Given the description of an element on the screen output the (x, y) to click on. 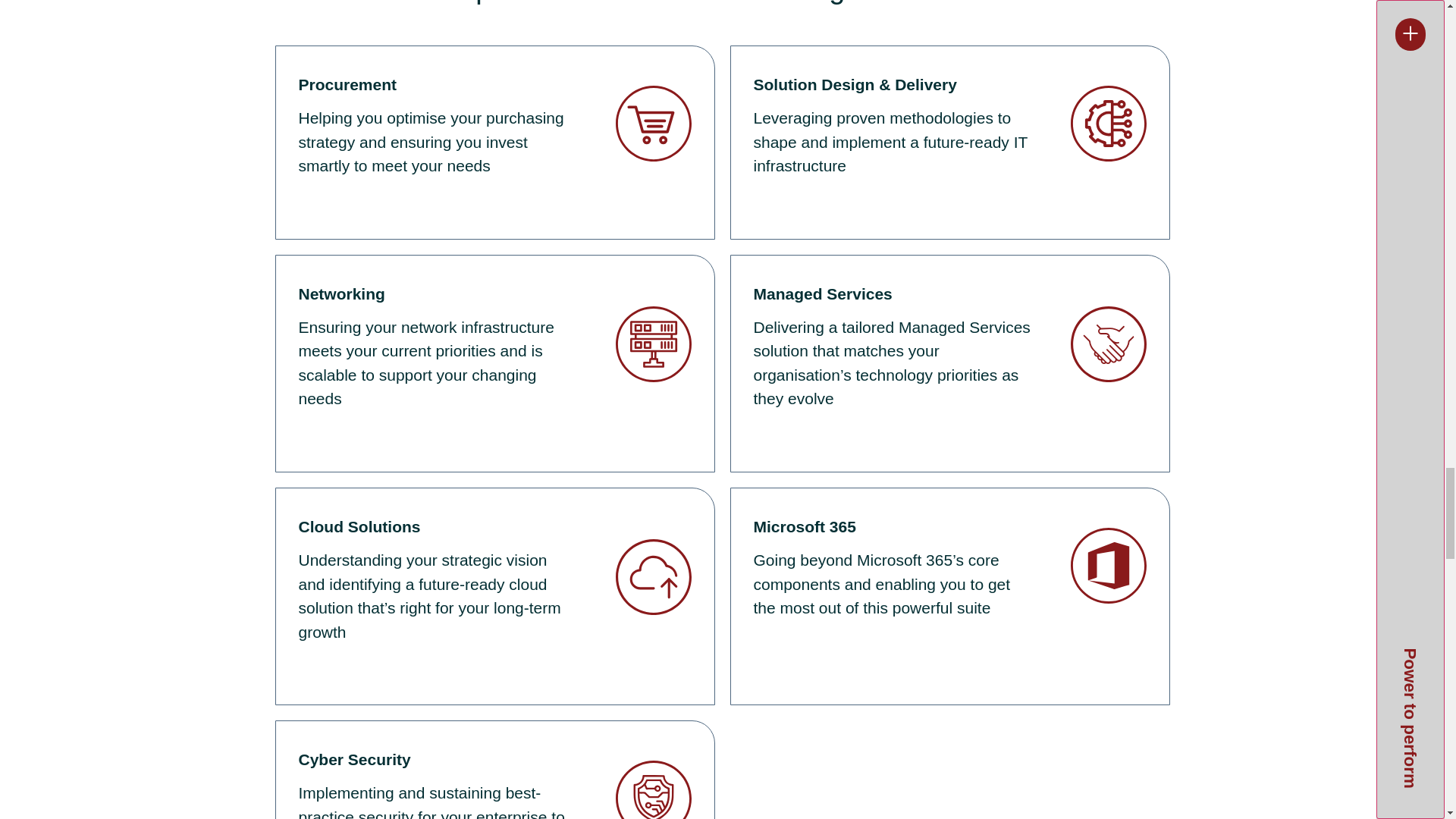
Procurement (347, 84)
Managed Services (823, 293)
Microsoft 365 (805, 526)
Cyber Security (354, 759)
Networking (341, 293)
Cloud Solutions (359, 526)
